Given the description of an element on the screen output the (x, y) to click on. 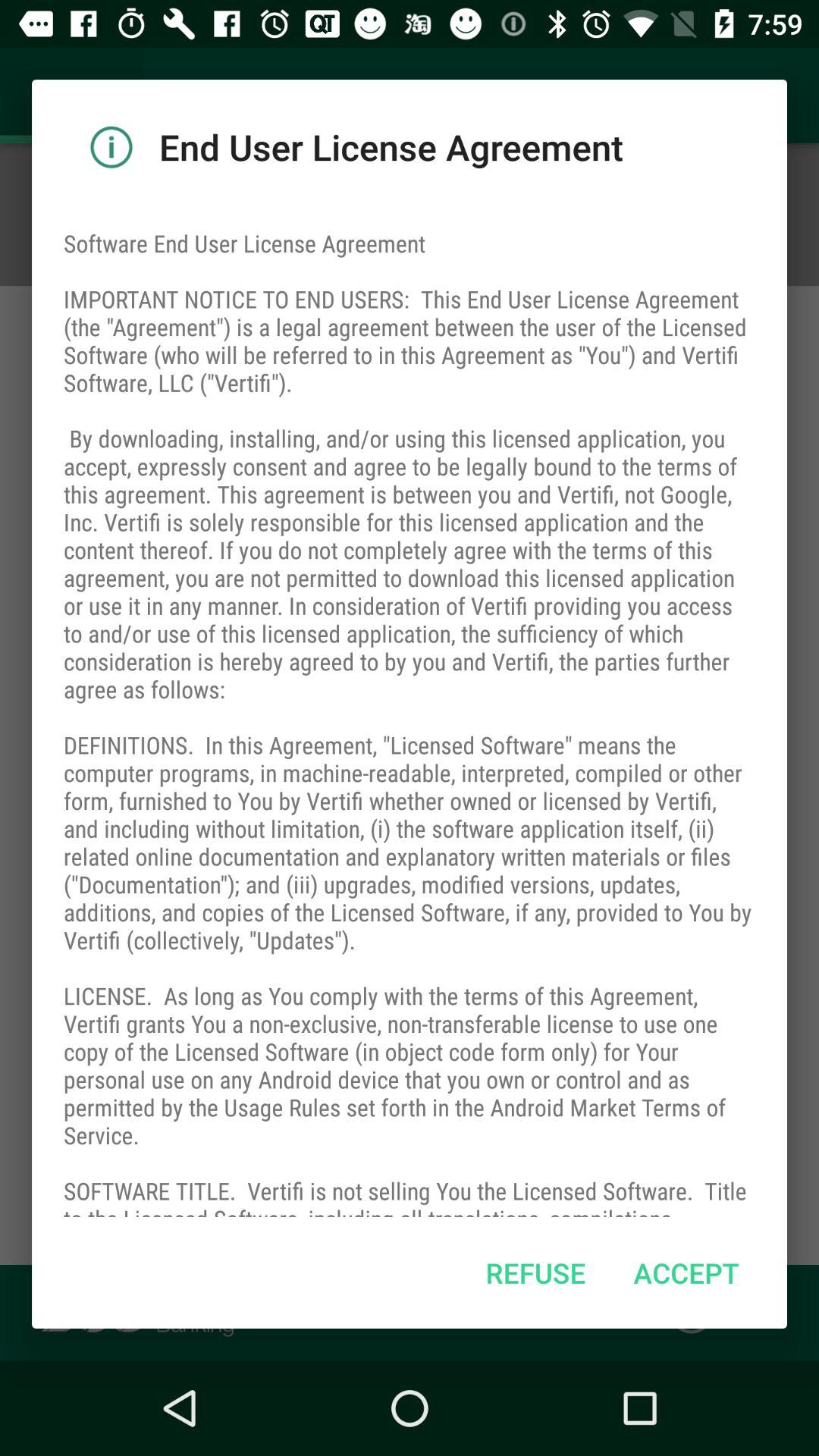
flip to the accept icon (686, 1272)
